Given the description of an element on the screen output the (x, y) to click on. 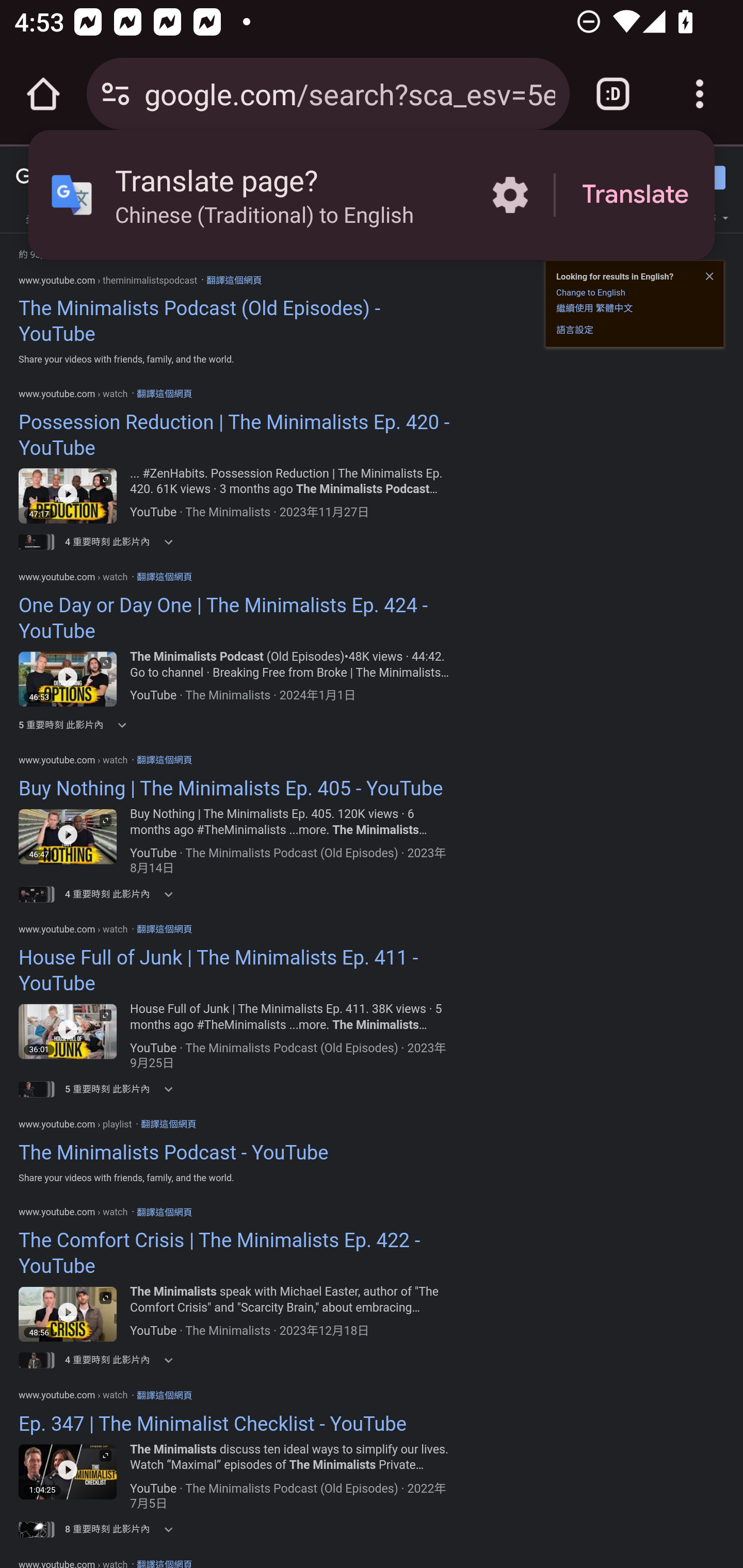
Open the home page (43, 93)
Connection is secure (115, 93)
Switch or close tabs (612, 93)
Customize and control Google Chrome (699, 93)
Translate (634, 195)
More options in the Translate page? (509, 195)
翻譯這個網頁 (233, 279)
Change to English (590, 291)
繼續使用 繁體中文 繼續使用  繁體中文 (594, 307)
語言設定 (574, 329)
翻譯這個網頁 (164, 394)
4 重要時刻  此影片內 (124, 541)
翻譯這個網頁 (164, 576)
5 重要時刻  此影片內 (124, 724)
翻譯這個網頁 (164, 759)
4 重要時刻  此影片內 (124, 894)
翻譯這個網頁 (164, 928)
5 重要時刻  此影片內 (124, 1088)
翻譯這個網頁 (168, 1123)
翻譯這個網頁 (164, 1211)
4 重要時刻  此影片內 (124, 1359)
翻譯這個網頁 (164, 1394)
8 重要時刻  此影片內 (124, 1528)
